Given the description of an element on the screen output the (x, y) to click on. 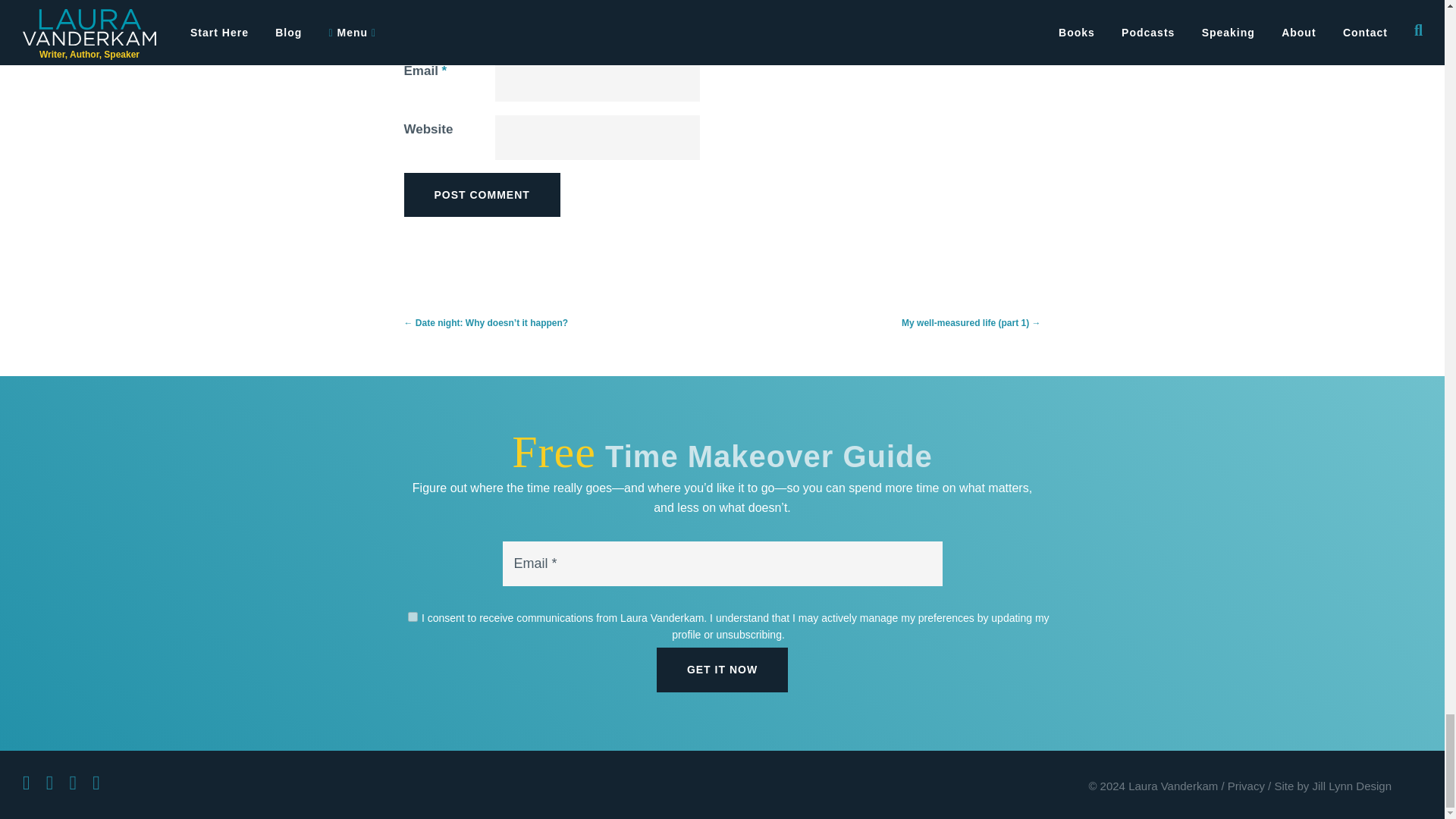
Atlanta WordPress Designer and Developer (1332, 785)
Post Comment (481, 194)
Get It Now (721, 669)
